Given the description of an element on the screen output the (x, y) to click on. 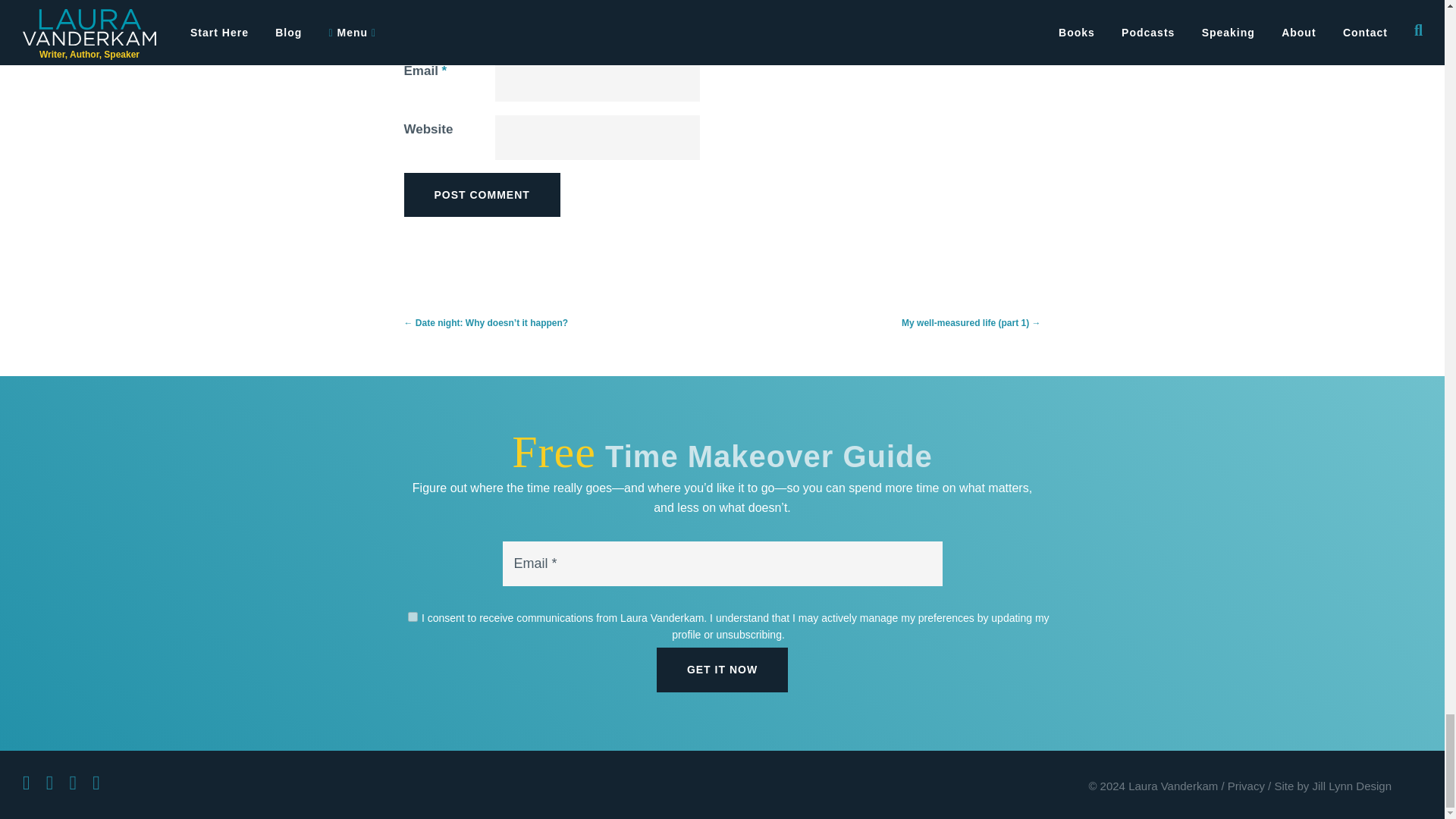
Atlanta WordPress Designer and Developer (1332, 785)
Post Comment (481, 194)
Get It Now (721, 669)
